Given the description of an element on the screen output the (x, y) to click on. 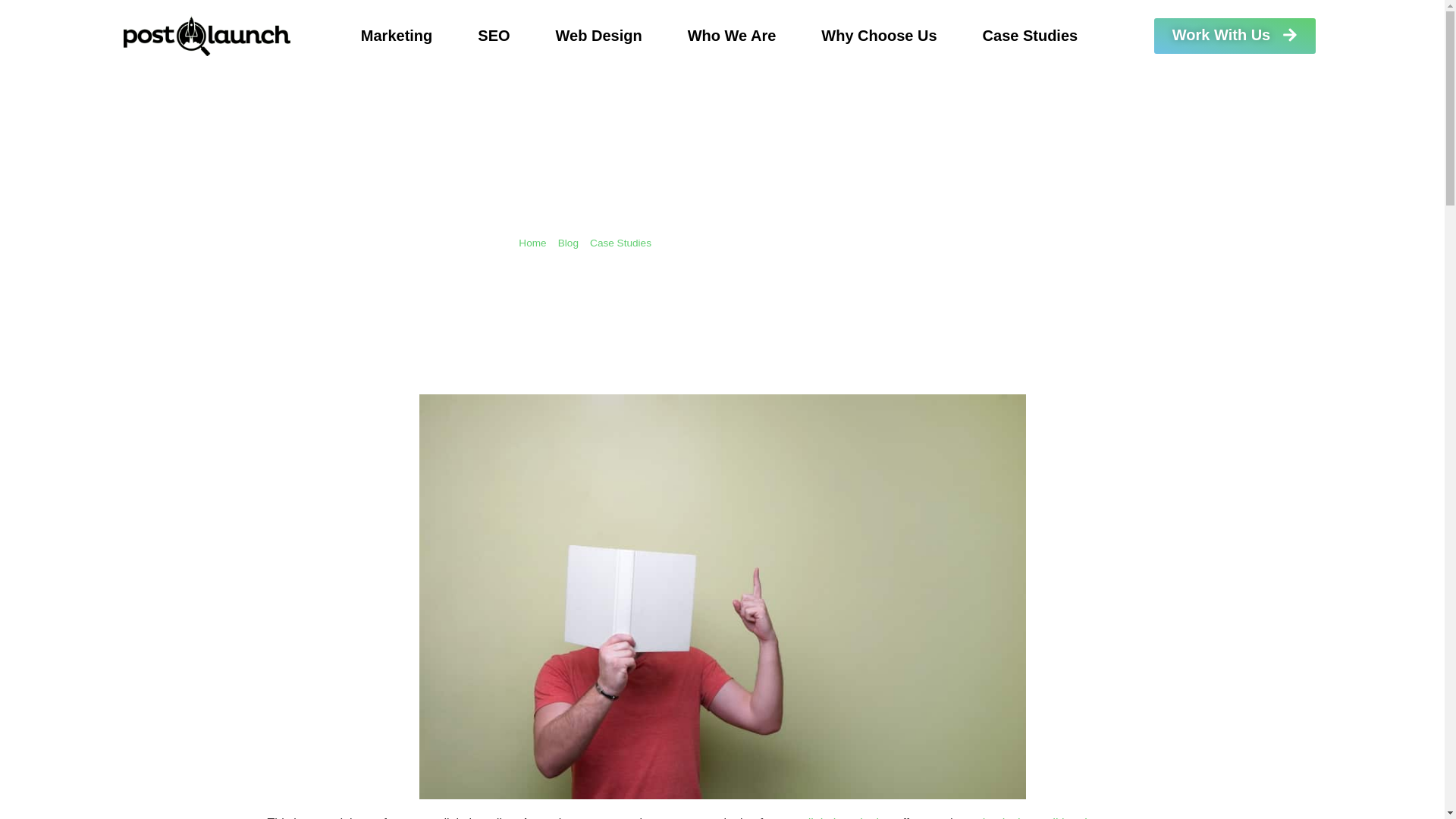
Home (532, 242)
Case Studies (619, 242)
Why Choose Us (879, 35)
Marketing (396, 35)
Web Design (599, 35)
Who We Are (732, 35)
Case Studies (1030, 35)
not simply the traditional means (1041, 817)
Work With Us (1235, 36)
Blog (567, 242)
